Given the description of an element on the screen output the (x, y) to click on. 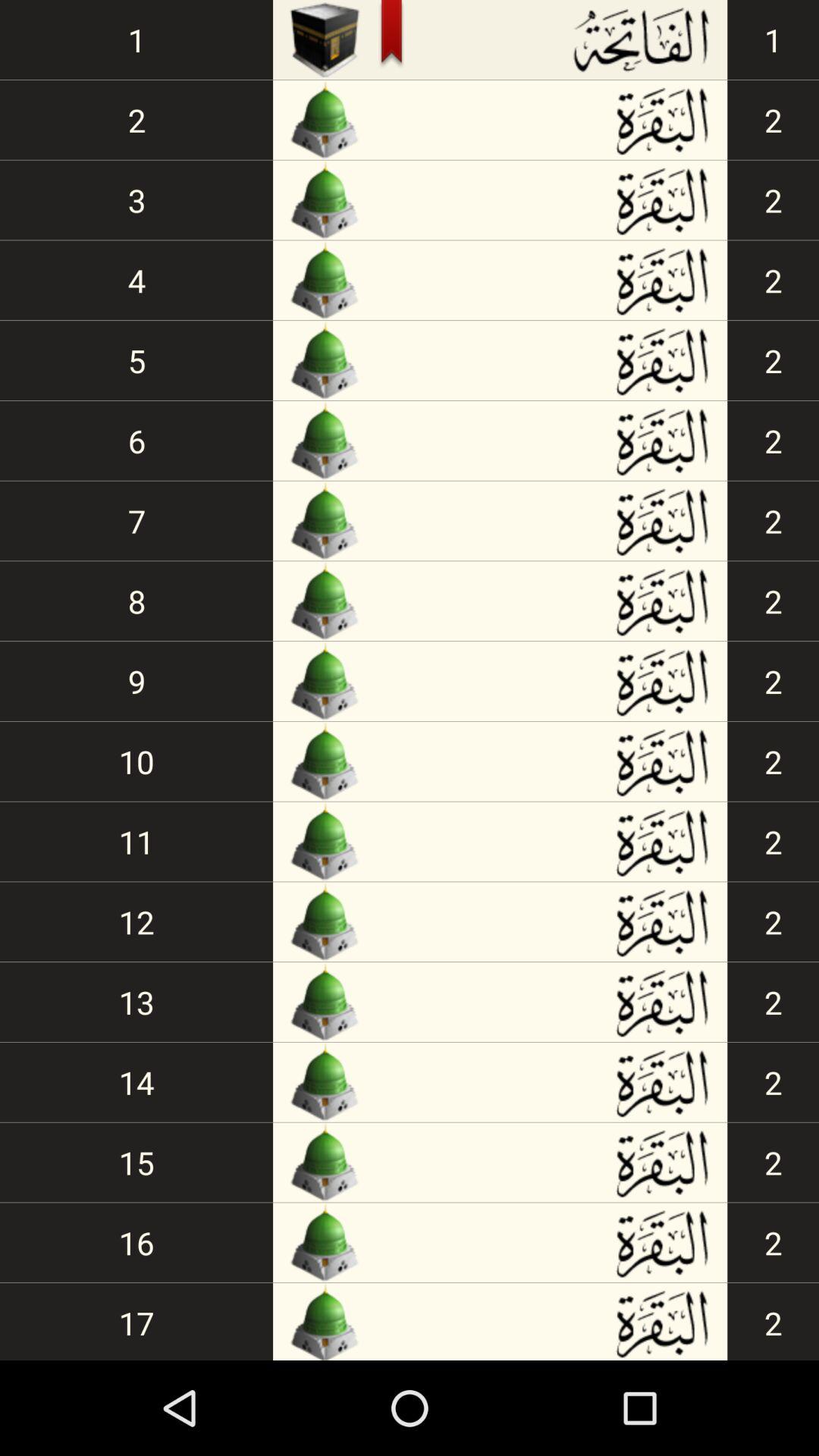
select the image on left to the text 5 on the web page (324, 360)
